Given the description of an element on the screen output the (x, y) to click on. 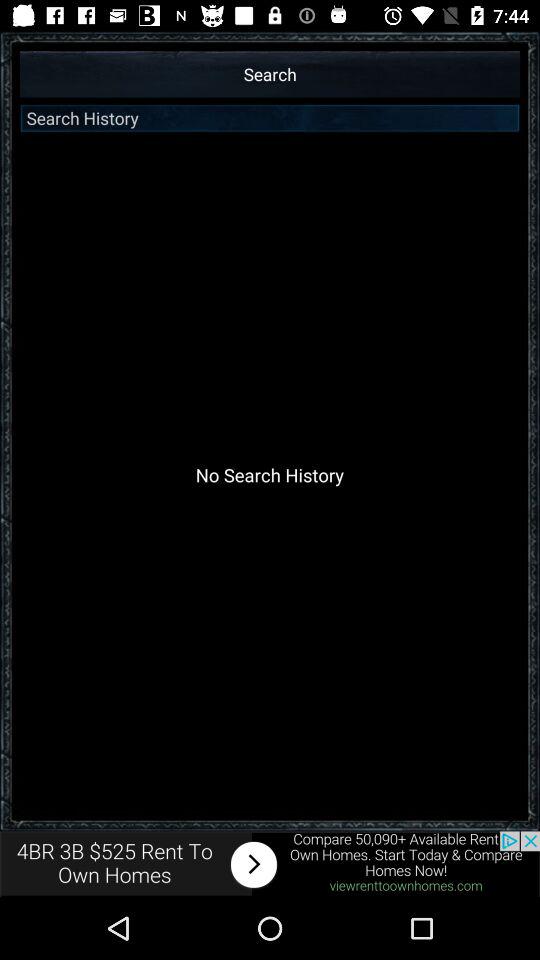
advertisement option (270, 864)
